Given the description of an element on the screen output the (x, y) to click on. 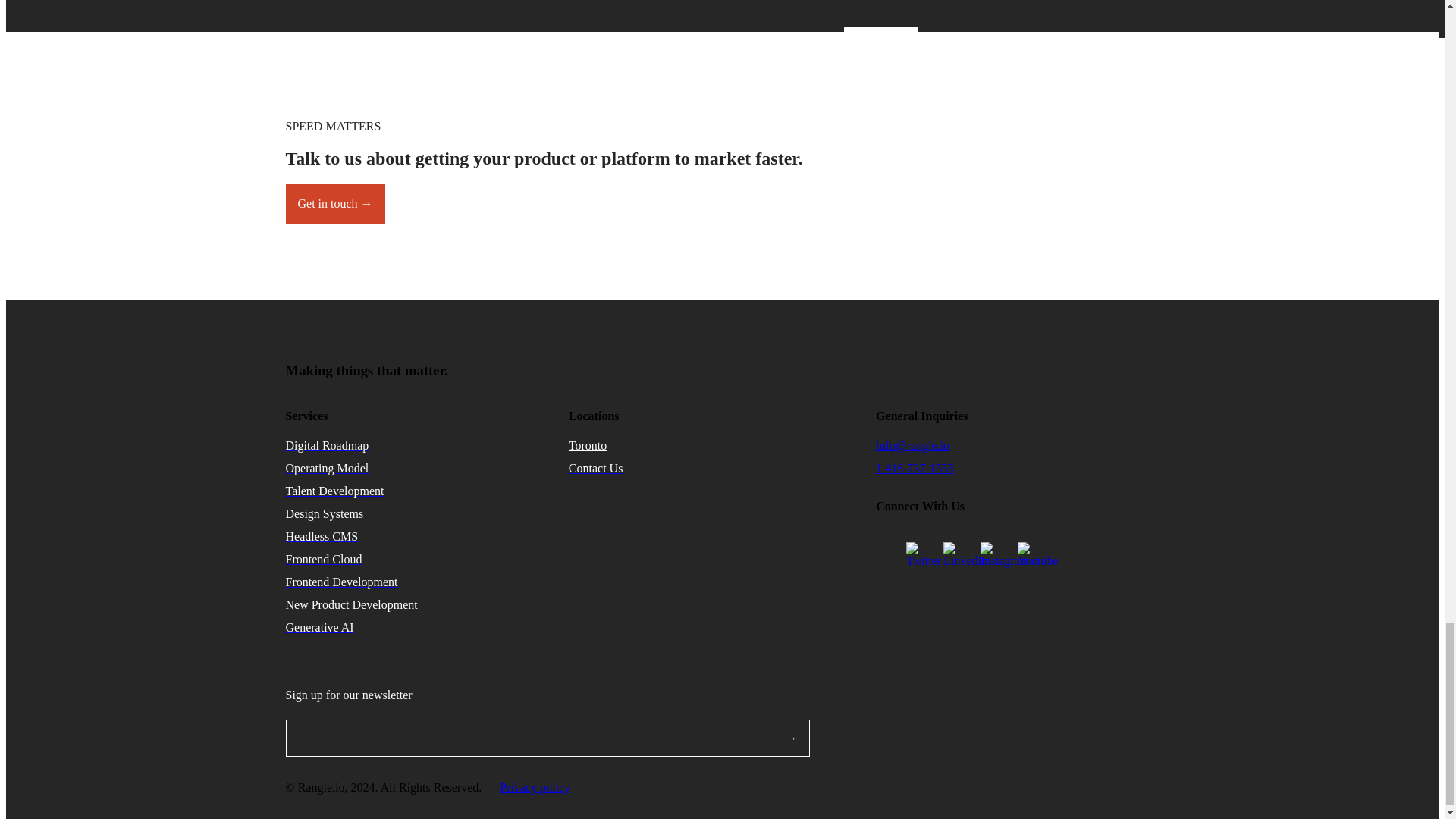
Talent Development (334, 490)
Headless CMS (321, 535)
Operating Model (326, 468)
Frontend Cloud (323, 558)
Toronto (588, 445)
Frontend Development (341, 581)
Design Systems (323, 513)
New Product Development (350, 604)
Generative AI (319, 626)
1 416-737-1555 (914, 468)
